Given the description of an element on the screen output the (x, y) to click on. 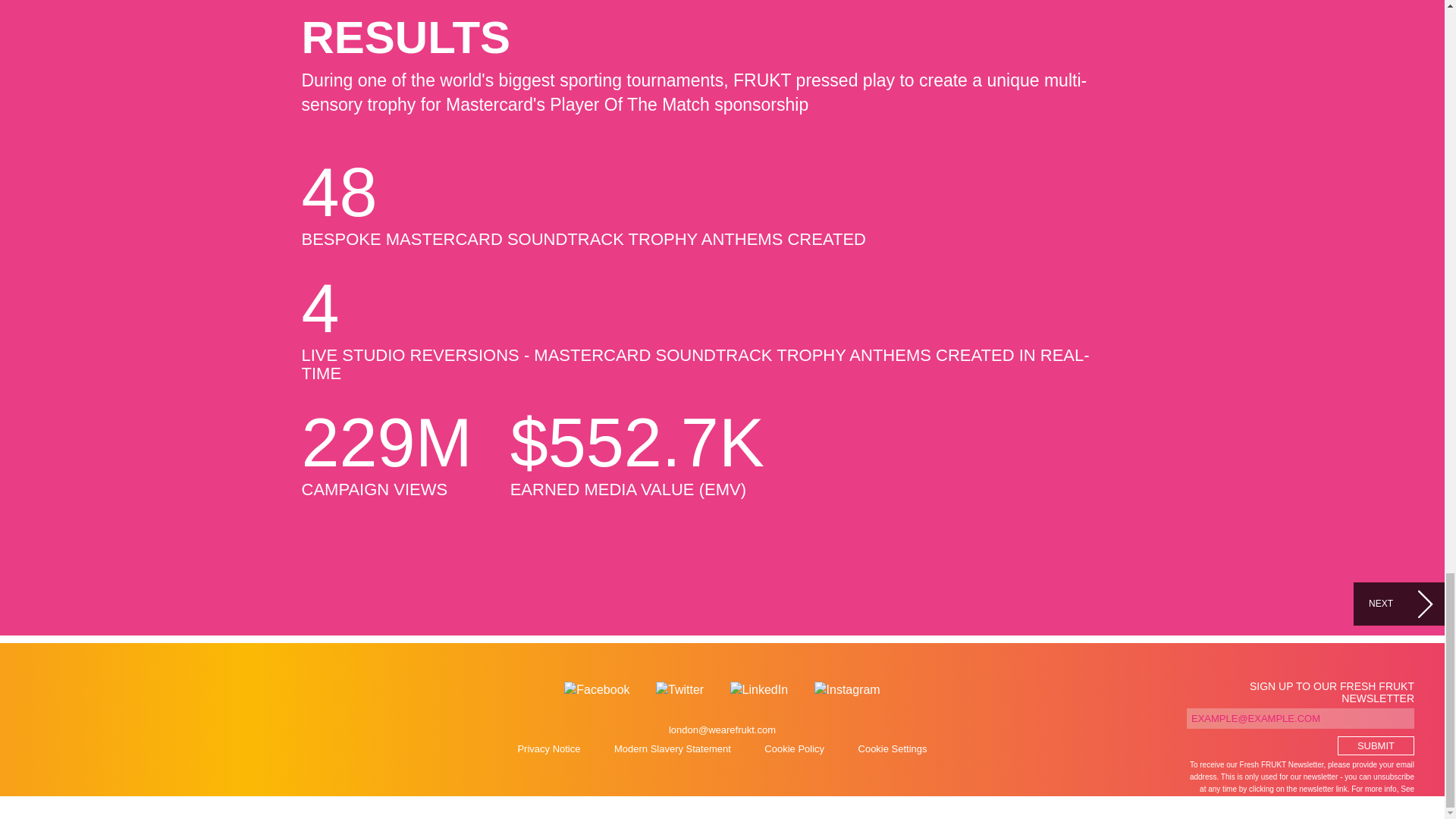
Modern Slavery Statement (672, 749)
Cookie Policy (794, 749)
Submit (1375, 745)
Submit (1375, 745)
Privacy Notice. (1387, 801)
Privacy Notice (547, 749)
Cookie Settings (893, 749)
